Given the description of an element on the screen output the (x, y) to click on. 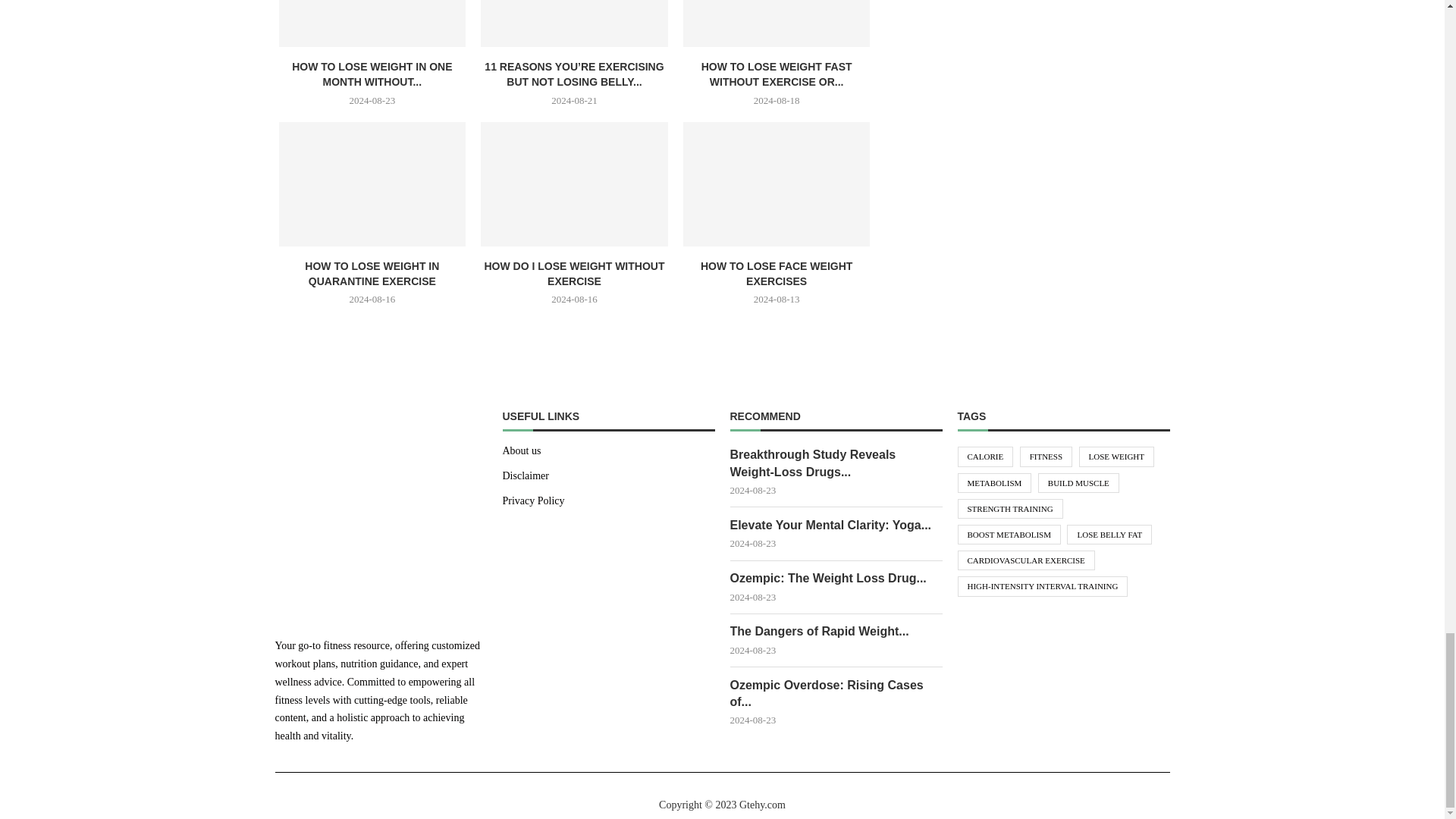
How To Lose Weight In One Month Without Exercise (372, 23)
How To Lose Weight Fast Without Exercise Or Pills (776, 23)
How To Lose Weight In Quarantine Exercise (372, 184)
How To Lose Face Weight Exercises (776, 184)
How Do I Lose Weight Without Exercise (574, 184)
